Given the description of an element on the screen output the (x, y) to click on. 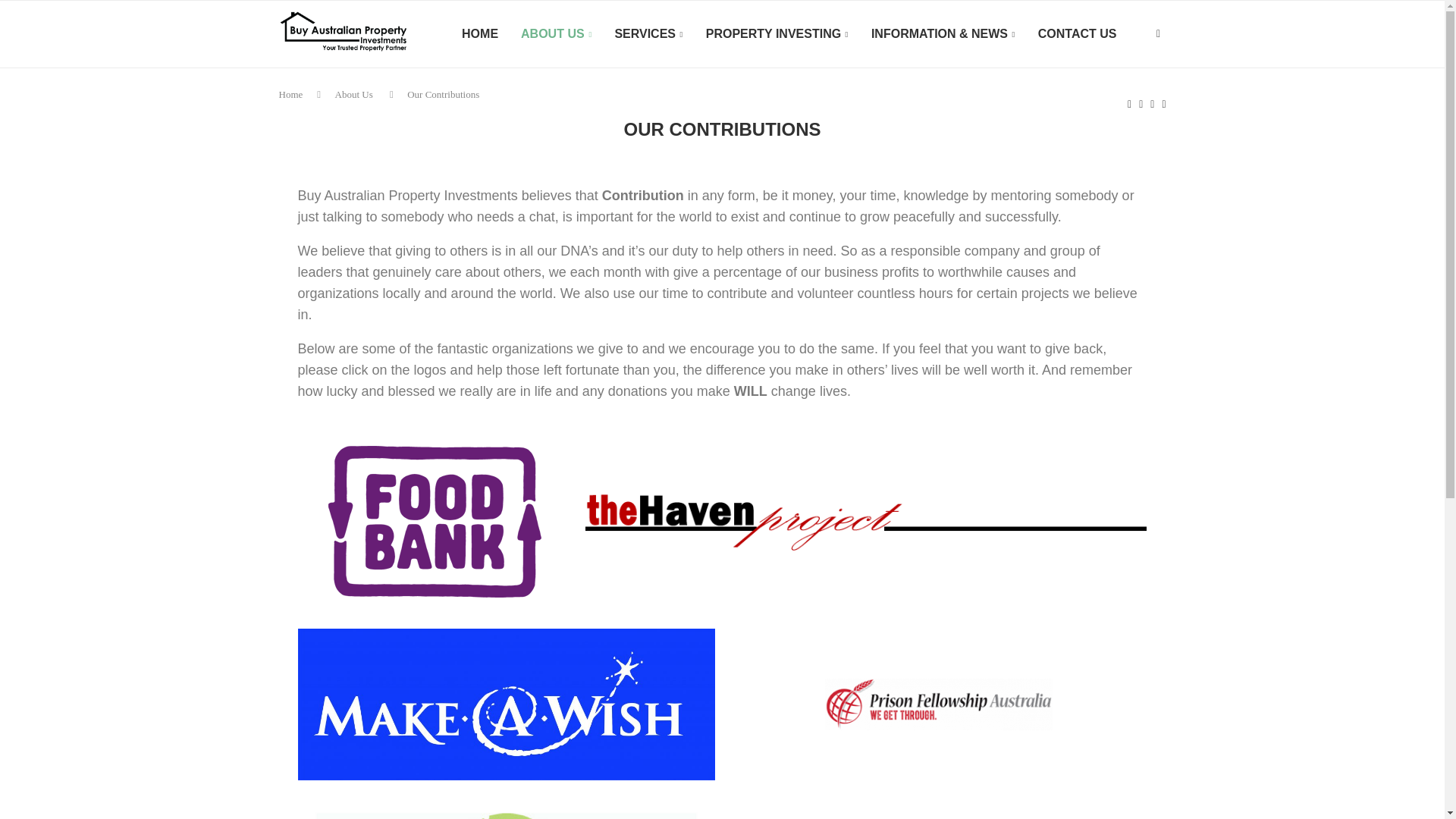
SERVICES (648, 33)
Home (290, 93)
About Us (353, 93)
ABOUT US (556, 33)
PROPERTY INVESTING (777, 33)
CONTACT US (1077, 33)
